Given the description of an element on the screen output the (x, y) to click on. 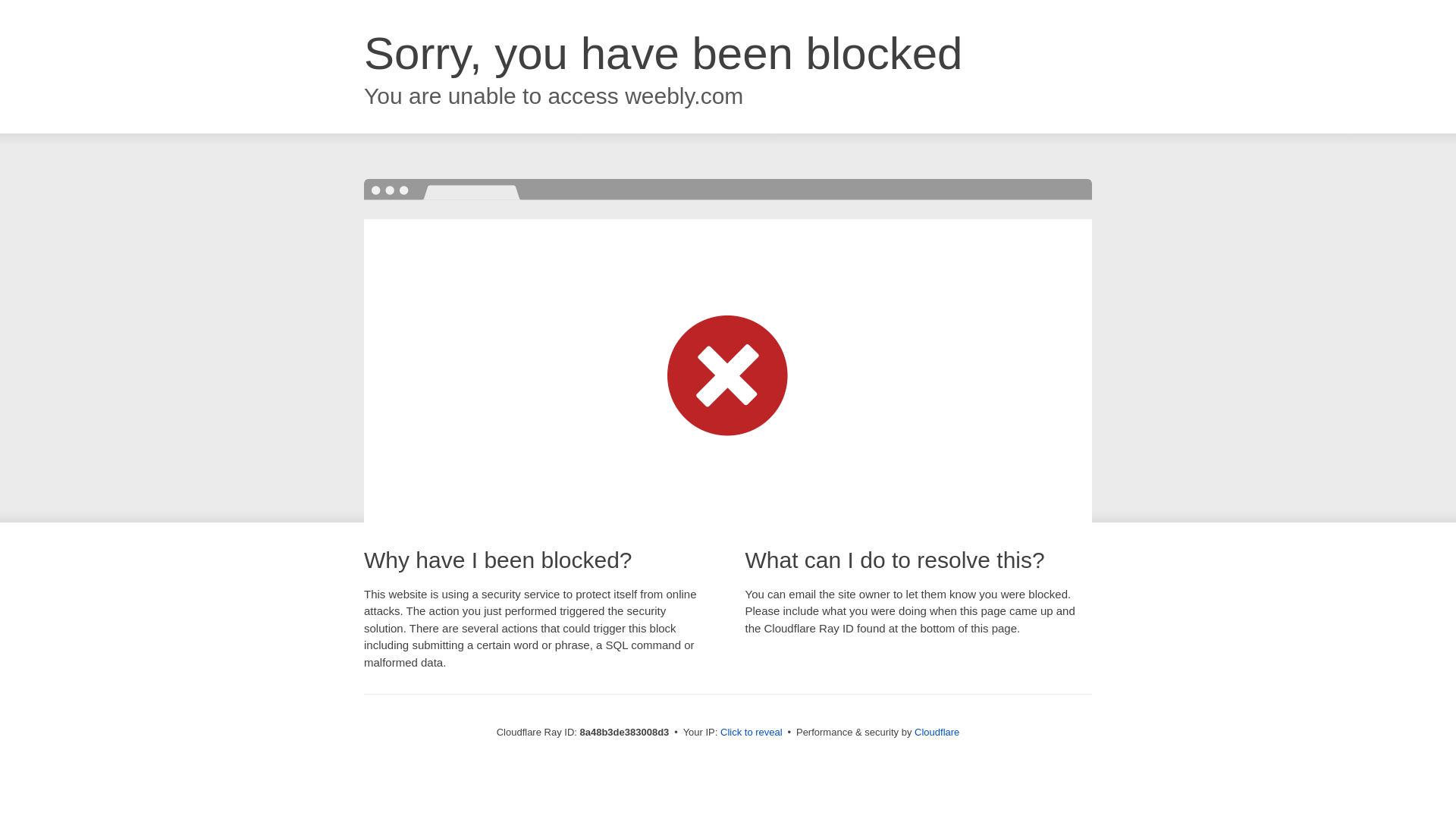
Click to reveal (751, 732)
Cloudflare (936, 731)
